Given the description of an element on the screen output the (x, y) to click on. 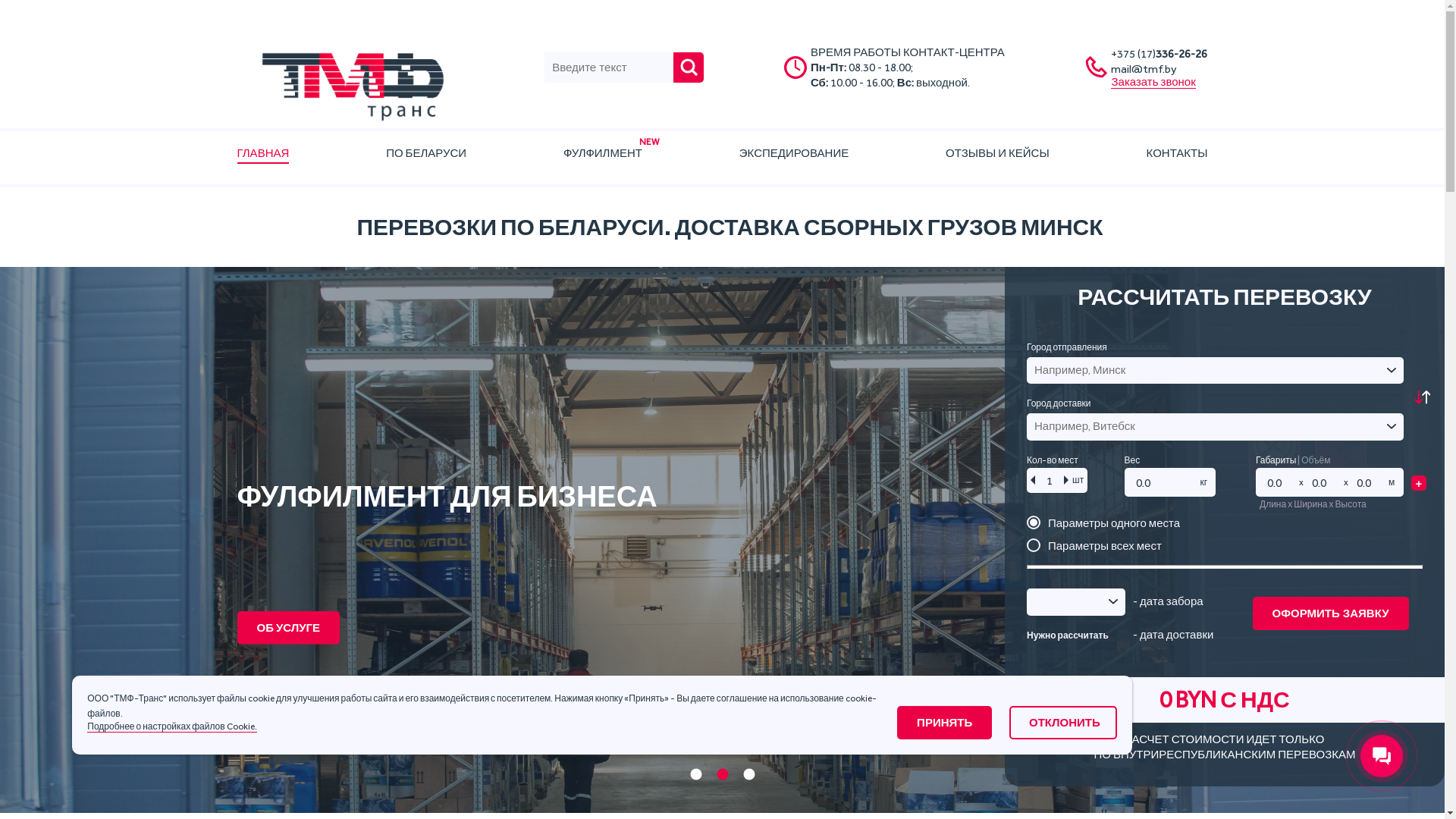
+375 (17)336-26-26 Element type: text (1158, 53)
mail@tmf.by Element type: text (1143, 68)
